Given the description of an element on the screen output the (x, y) to click on. 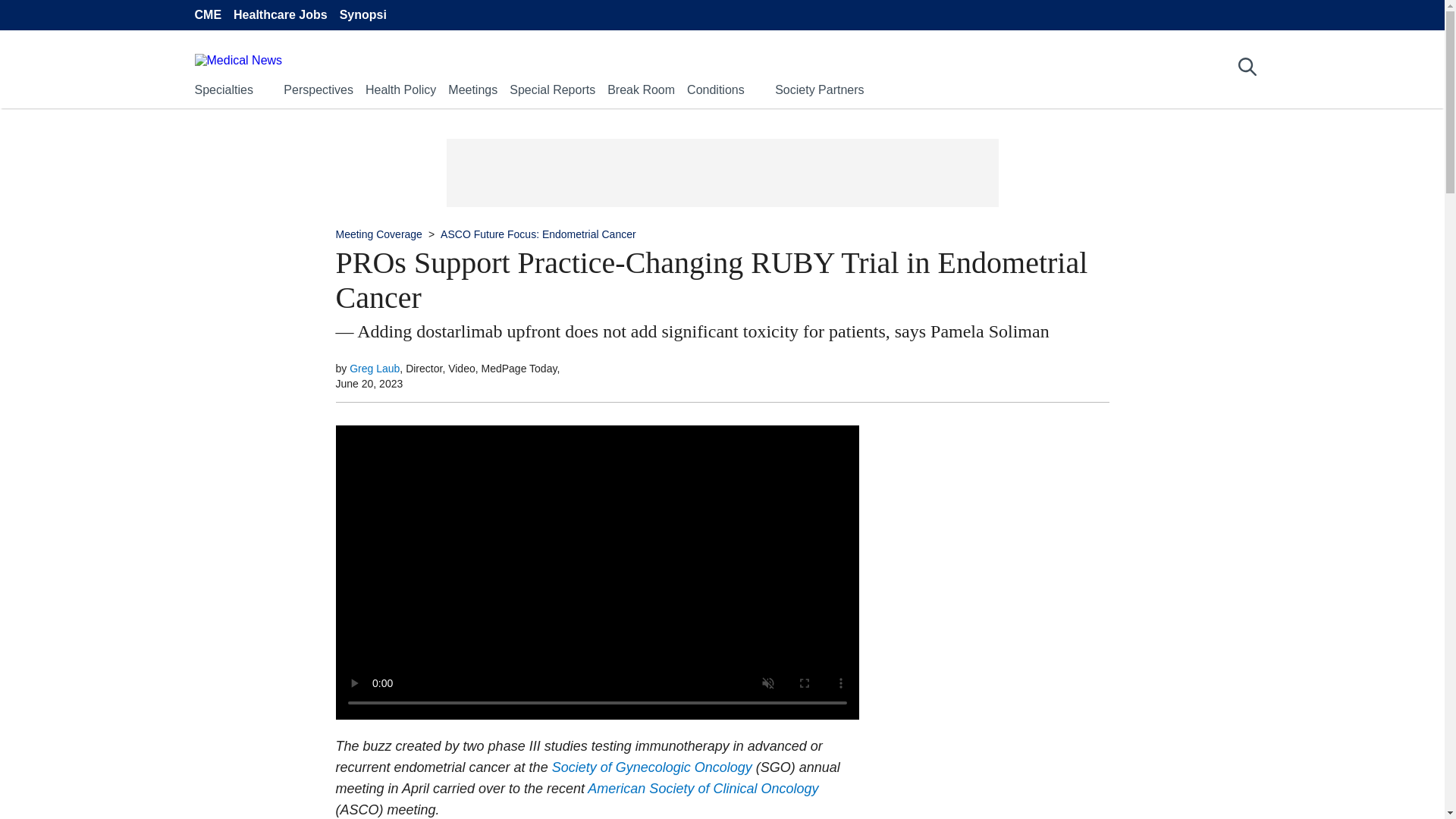
Synopsi (363, 15)
Healthcare Jobs (279, 15)
Specialties (222, 89)
CME (207, 15)
